Given the description of an element on the screen output the (x, y) to click on. 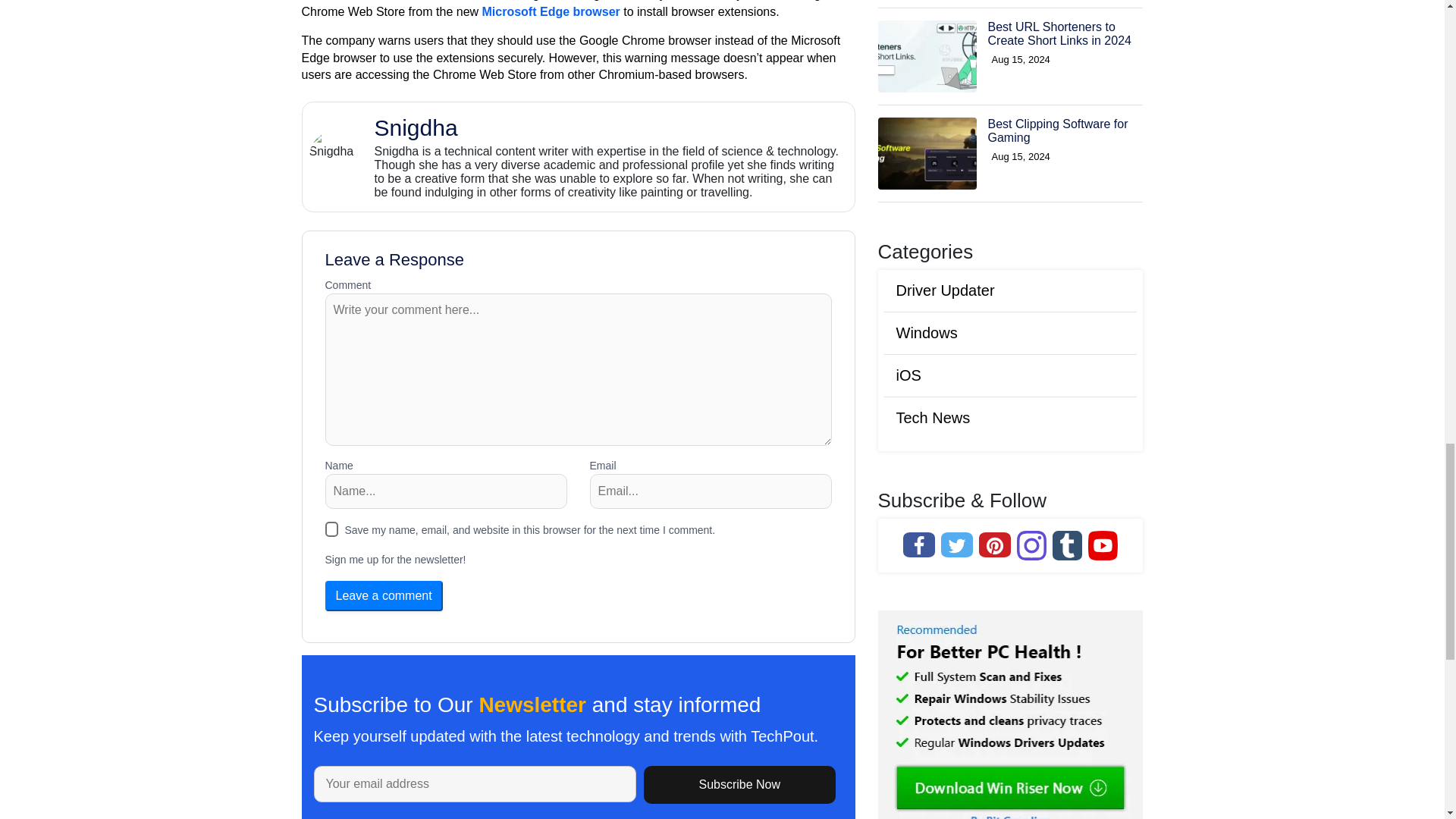
Subscribe Now (1010, 510)
Subscribe Now (739, 784)
Leave a comment (383, 595)
Leave a comment (383, 595)
Microsoft Edge browser (549, 11)
Snigdha (610, 127)
Subscribe Now (739, 784)
